Given the description of an element on the screen output the (x, y) to click on. 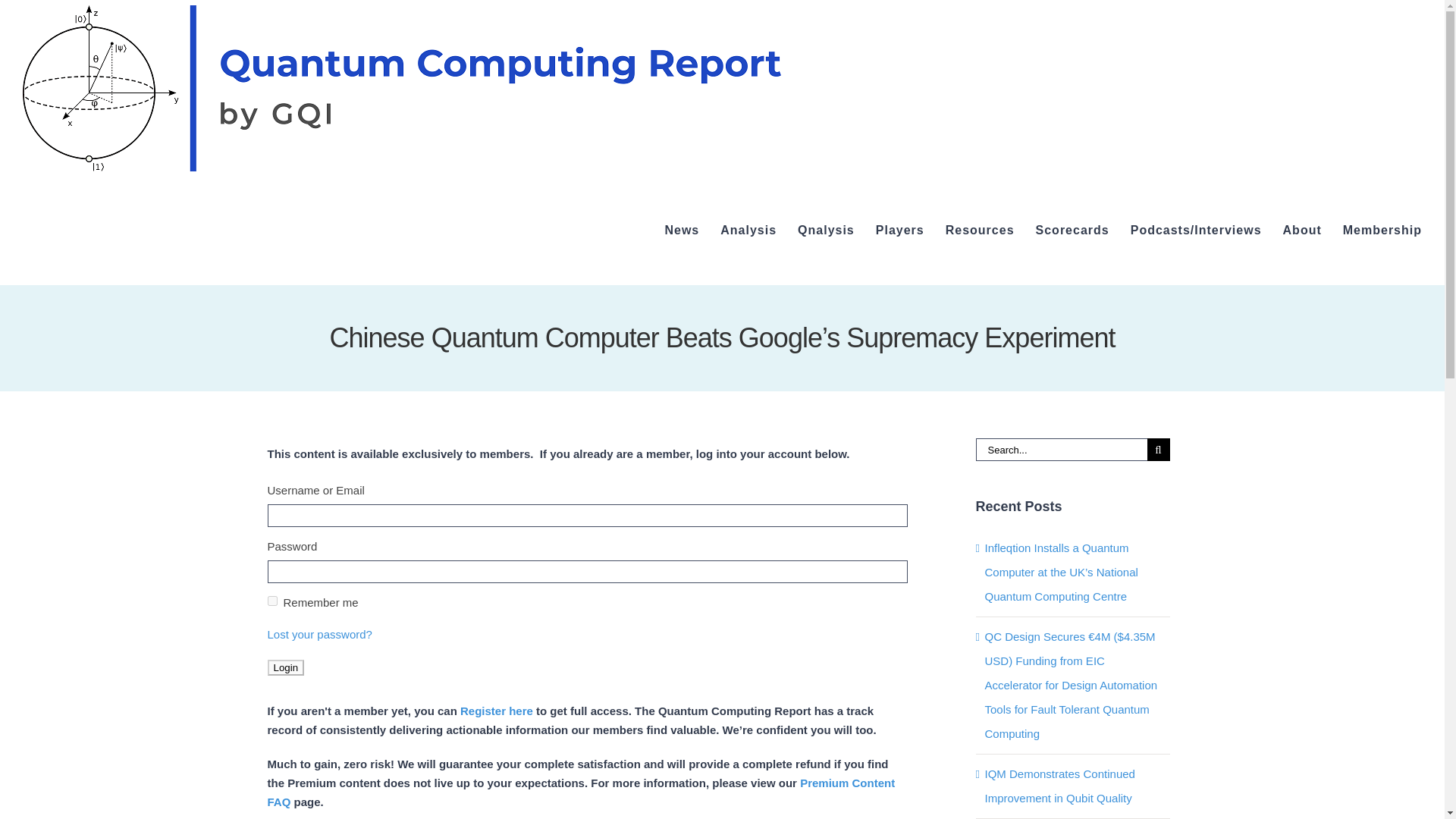
Analysis (748, 230)
Qnalysis (825, 230)
Players (900, 230)
1 (271, 601)
Login (285, 667)
Resources (979, 230)
Scorecards (1072, 230)
News (680, 230)
